Given the description of an element on the screen output the (x, y) to click on. 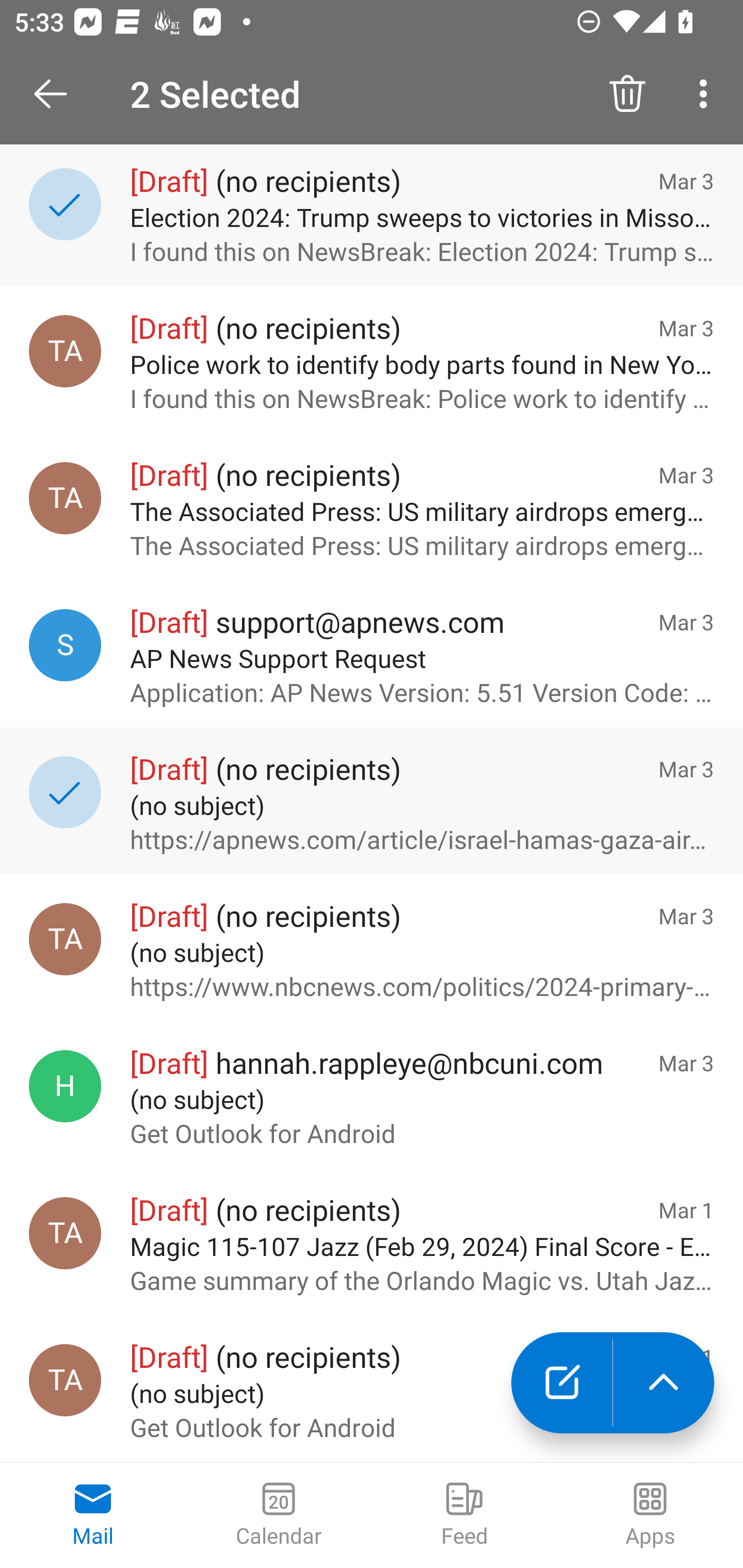
Delete (626, 93)
More options (706, 93)
Open Navigation Drawer (57, 94)
Test Appium, testappium002@outlook.com (64, 351)
Test Appium, testappium002@outlook.com (64, 498)
support@apnews.com (64, 645)
Test Appium, testappium002@outlook.com (64, 939)
hannah.rappleye@nbcuni.com (64, 1086)
Test Appium, testappium002@outlook.com (64, 1233)
New mail (561, 1382)
launch the extended action menu (663, 1382)
Test Appium, testappium002@outlook.com (64, 1379)
Calendar (278, 1515)
Feed (464, 1515)
Apps (650, 1515)
